Given the description of an element on the screen output the (x, y) to click on. 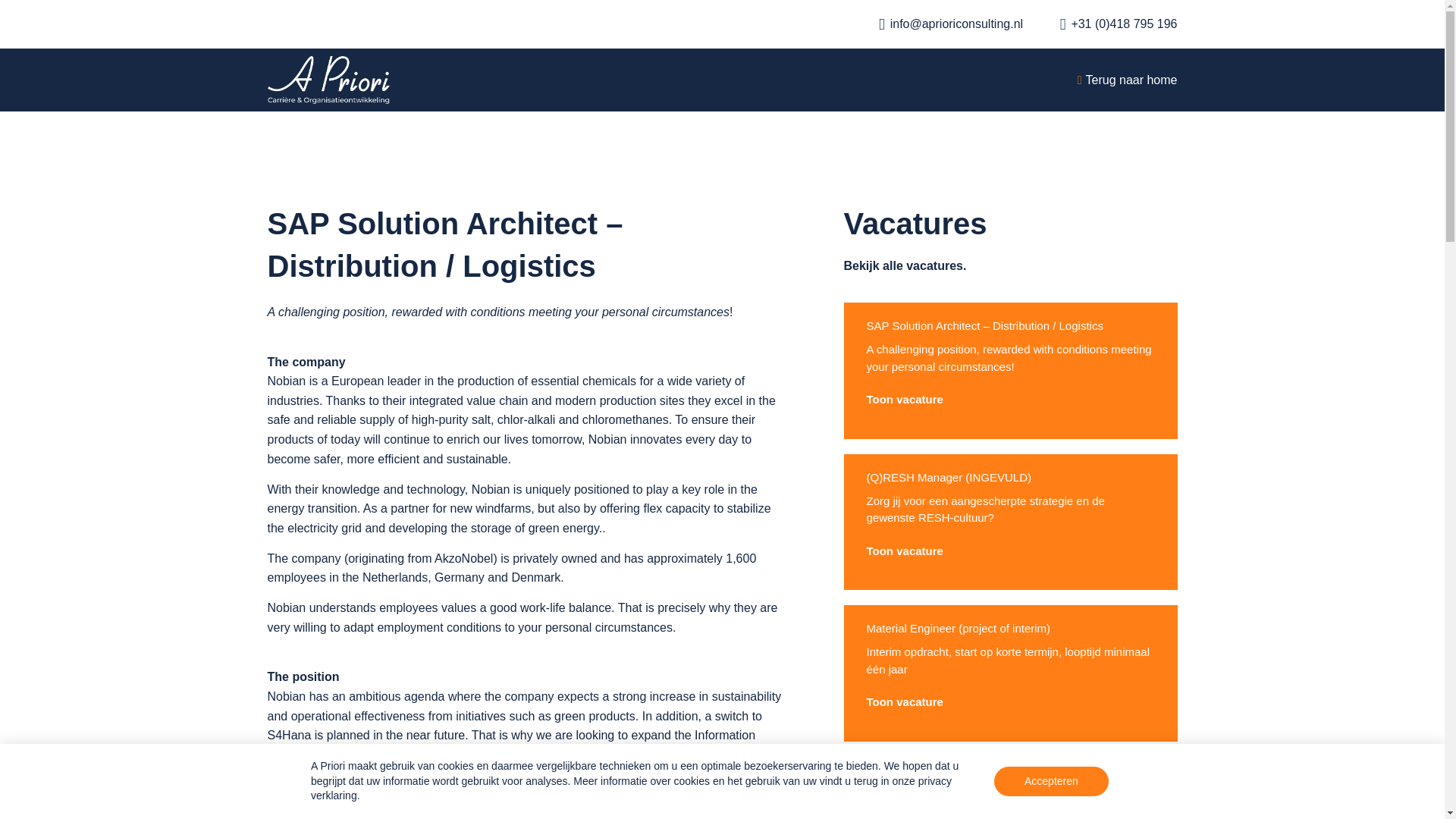
Toon vacature (904, 702)
Terug naar home (895, 80)
Toon vacature (904, 551)
Sales Development Representative (954, 779)
Accepteren (1051, 781)
Toon vacature (904, 399)
